Given the description of an element on the screen output the (x, y) to click on. 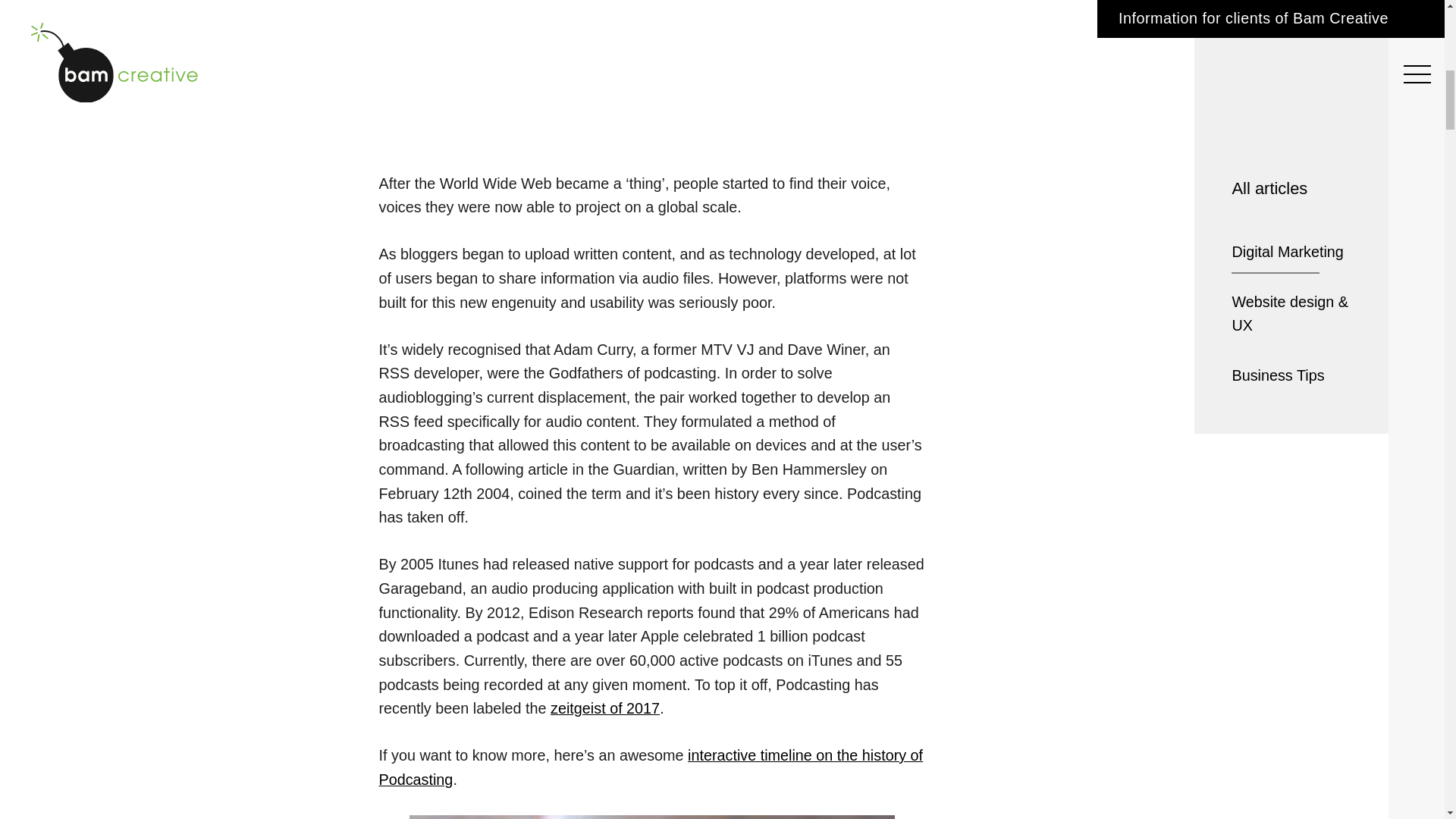
interactive timeline on the history of Podcasting (650, 766)
zeitgeist of 2017 (604, 708)
Did video kill the radio star? How to start a podcast. (651, 40)
